Given the description of an element on the screen output the (x, y) to click on. 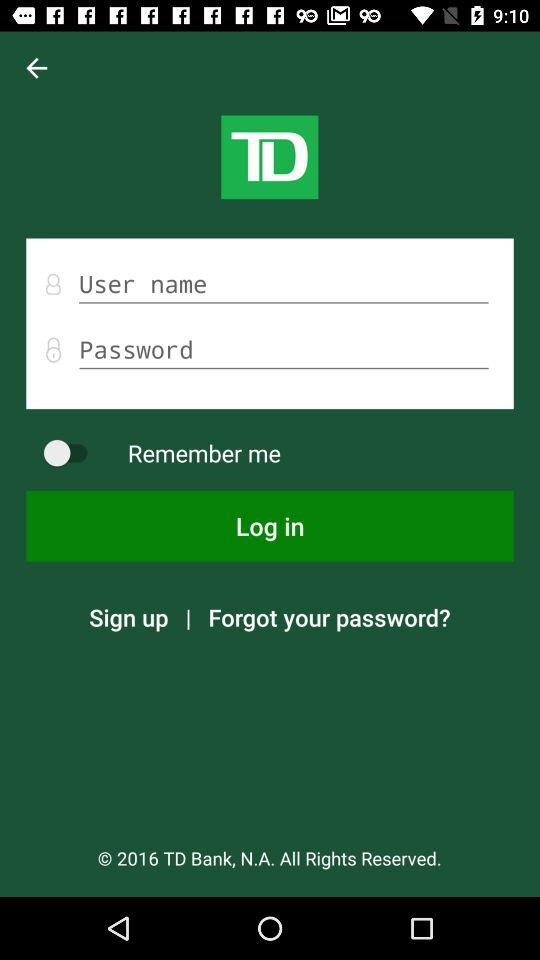
turn off icon above the 2016 td bank (329, 617)
